Given the description of an element on the screen output the (x, y) to click on. 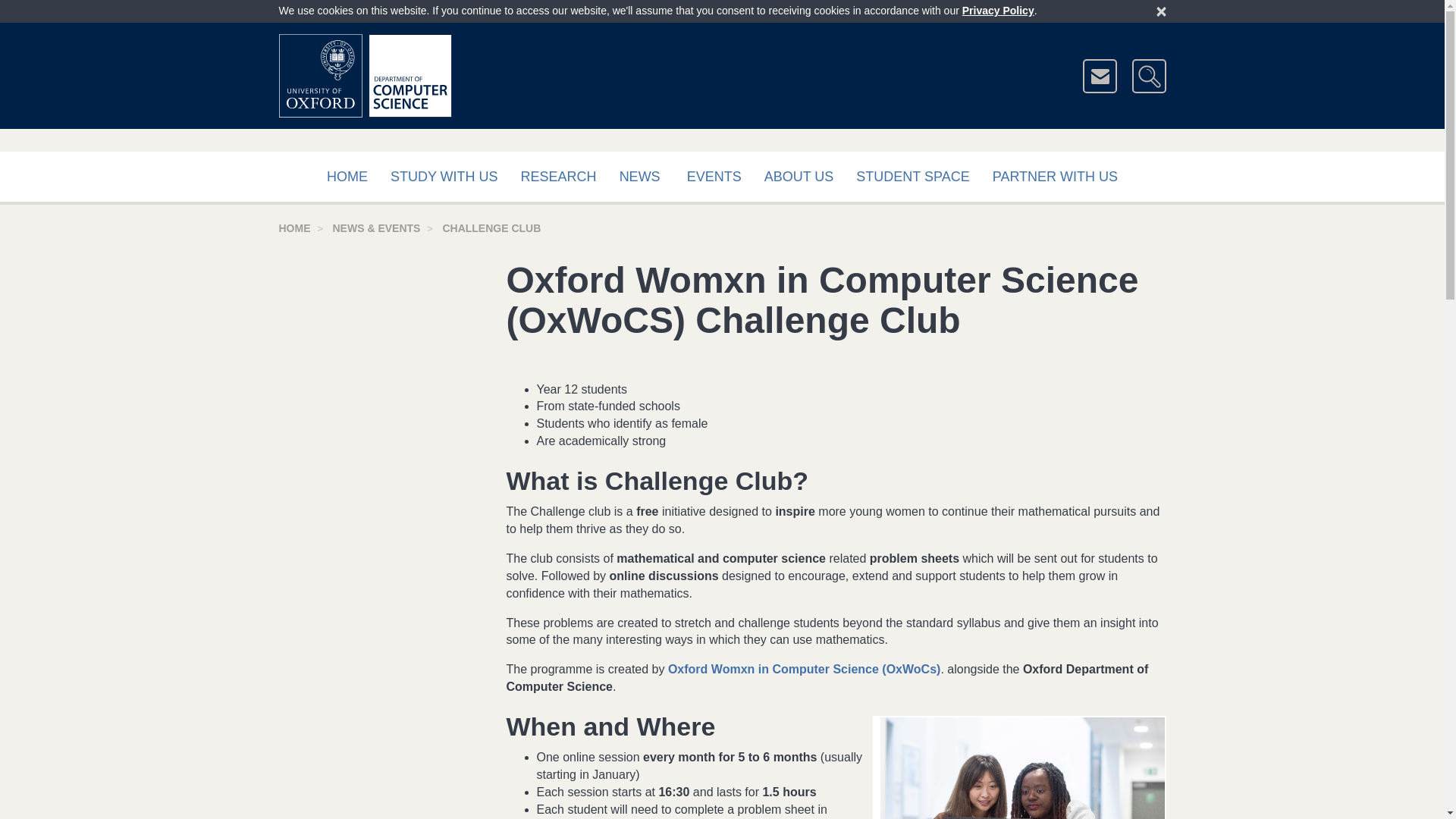
HOME (346, 177)
RESEARCH (558, 177)
ChallengeClub (1022, 768)
ABOUT US (798, 177)
HOME (295, 227)
PARTNER WITH US (1055, 177)
NEWS (639, 177)
STUDENT SPACE (911, 177)
Privacy Policy (997, 10)
EVENTS (713, 177)
STUDY WITH US (443, 177)
